Given the description of an element on the screen output the (x, y) to click on. 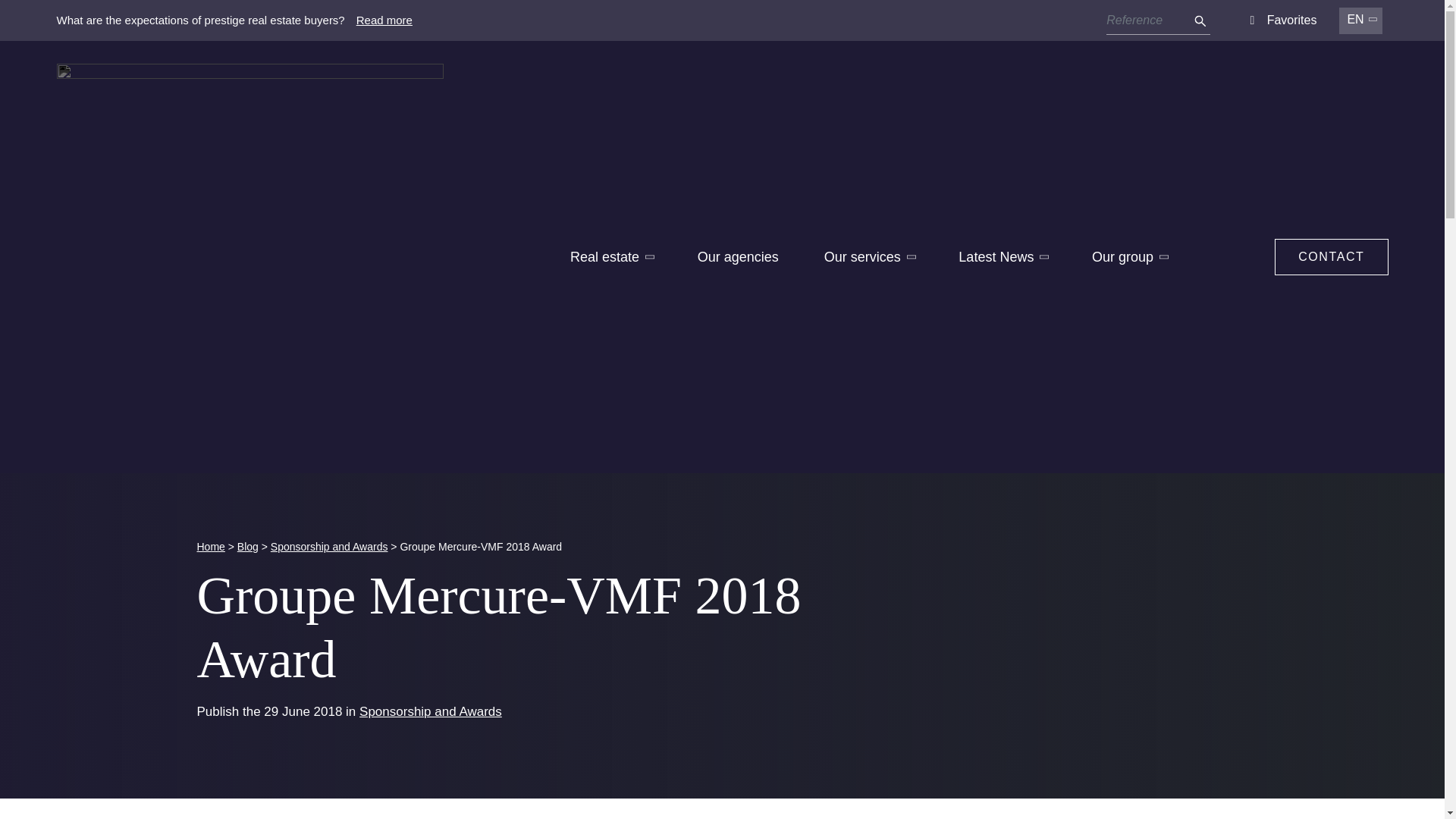
Favorites (1279, 19)
Contact (1331, 257)
Our group (1128, 256)
Real estate (611, 256)
Our services (868, 256)
EN (1360, 20)
Read more (384, 20)
EN (1360, 20)
Our agencies (737, 256)
CONTACT (1331, 257)
